Given the description of an element on the screen output the (x, y) to click on. 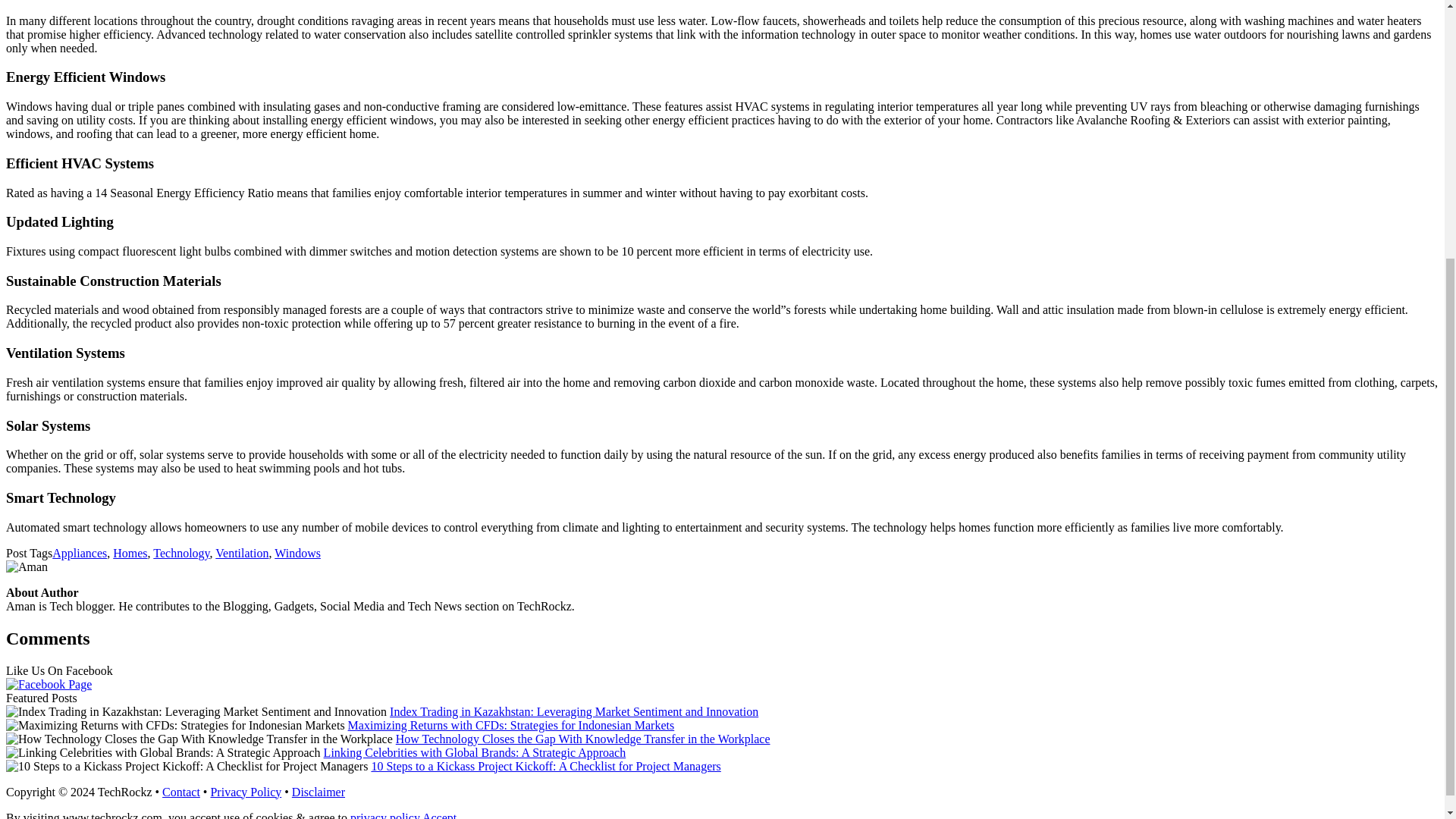
Technology (180, 553)
Contact (180, 791)
Homes (130, 553)
Windows (297, 553)
Privacy Policy (245, 791)
Ventilation (241, 553)
Disclaimer (318, 791)
